Given the description of an element on the screen output the (x, y) to click on. 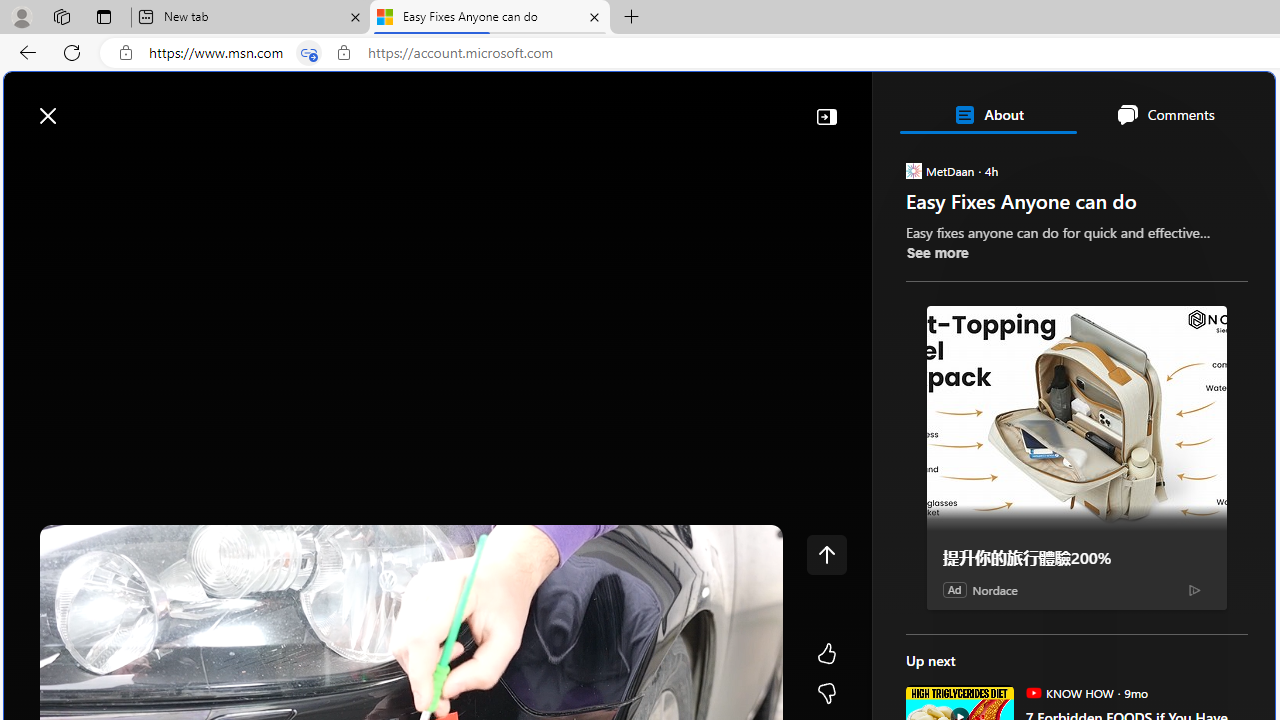
KNOW HOW KNOW HOW (1069, 692)
Open navigation menu (29, 162)
Open settings (1230, 105)
Collapse (826, 115)
Personalize (1195, 162)
